Given the description of an element on the screen output the (x, y) to click on. 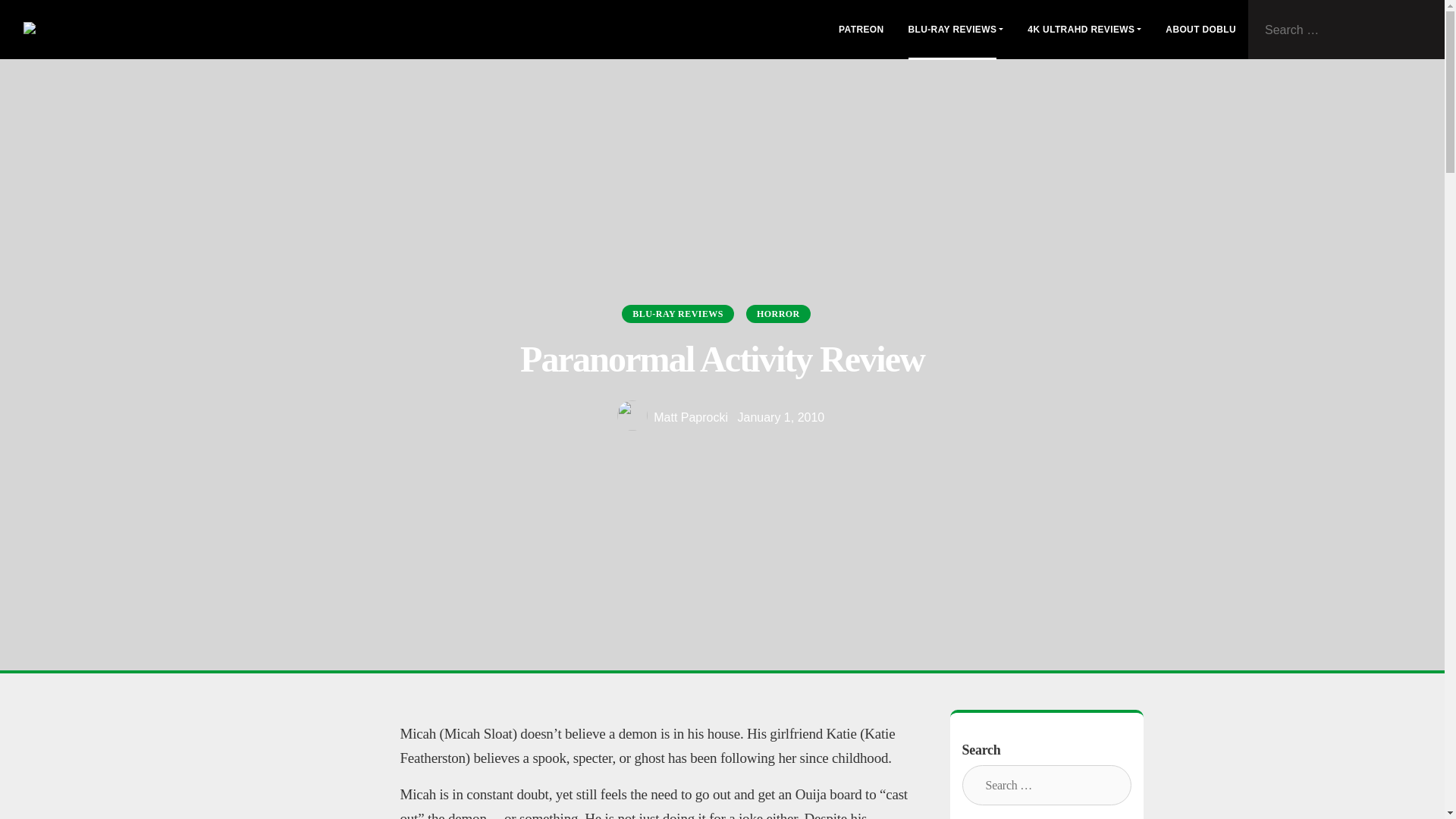
Blu-ray Reviews (956, 29)
Blu-ray, 4K UltraHD, and Theatrical Movie Reviews (200, 29)
BLU-RAY REVIEWS (956, 29)
Submit (1427, 30)
PATREON (861, 29)
Matt Paprocki (674, 417)
Submit (976, 783)
Submit (1427, 30)
BLU-RAY REVIEWS (677, 313)
ABOUT DOBLU (1200, 29)
